Given the description of an element on the screen output the (x, y) to click on. 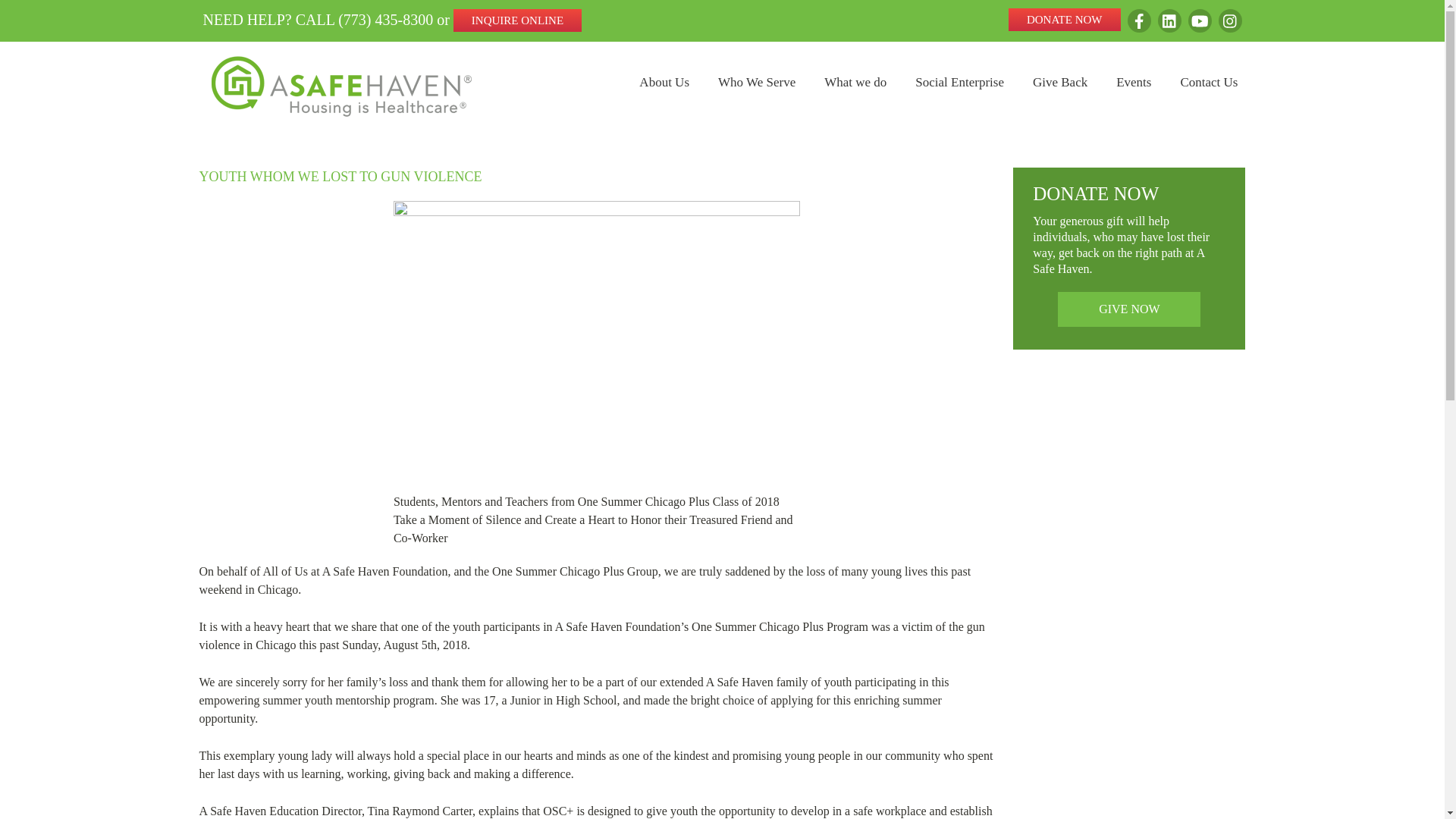
DONATE NOW (1065, 19)
Give Back (1059, 81)
Contact Us (1208, 81)
Social Enterprise (959, 81)
INQUIRE ONLINE (516, 20)
Events (1133, 81)
About Us (663, 81)
What we do (855, 81)
Who We Serve (755, 81)
